Given the description of an element on the screen output the (x, y) to click on. 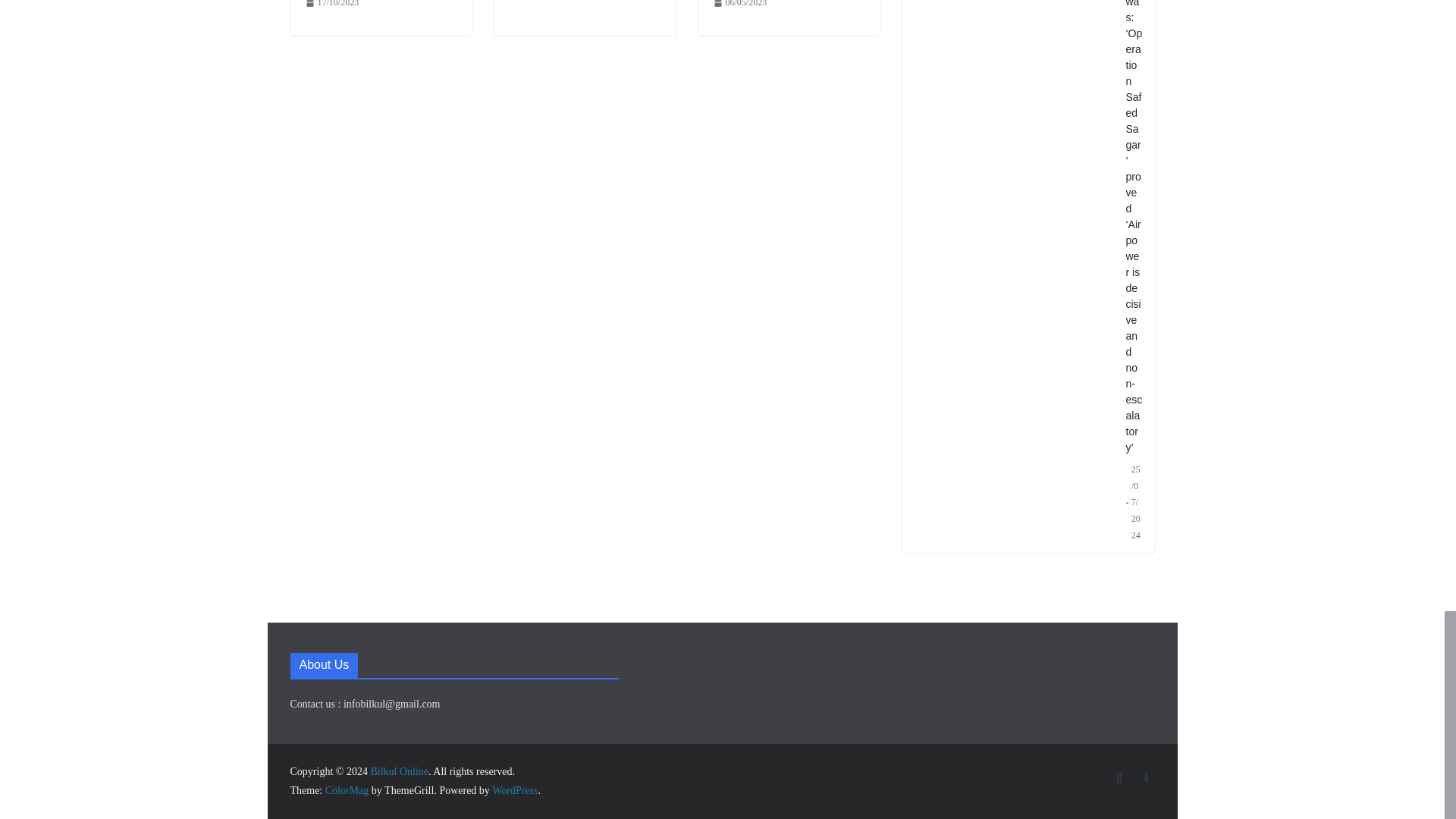
8:04 pm (331, 5)
